Given the description of an element on the screen output the (x, y) to click on. 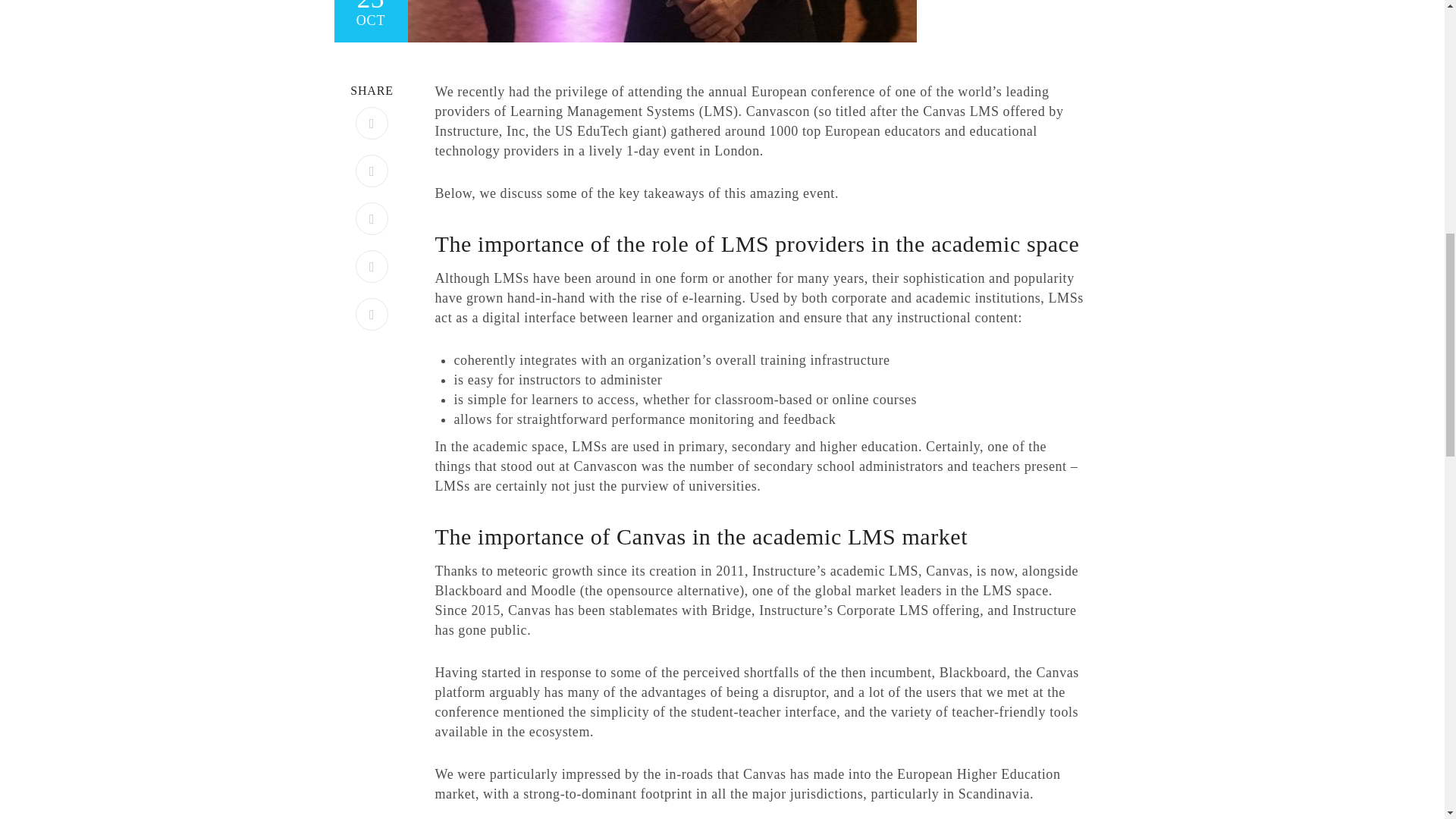
Pinterest (371, 218)
Twitter (371, 170)
Facebook (371, 123)
LinkedIn (371, 266)
Google (371, 314)
